Given the description of an element on the screen output the (x, y) to click on. 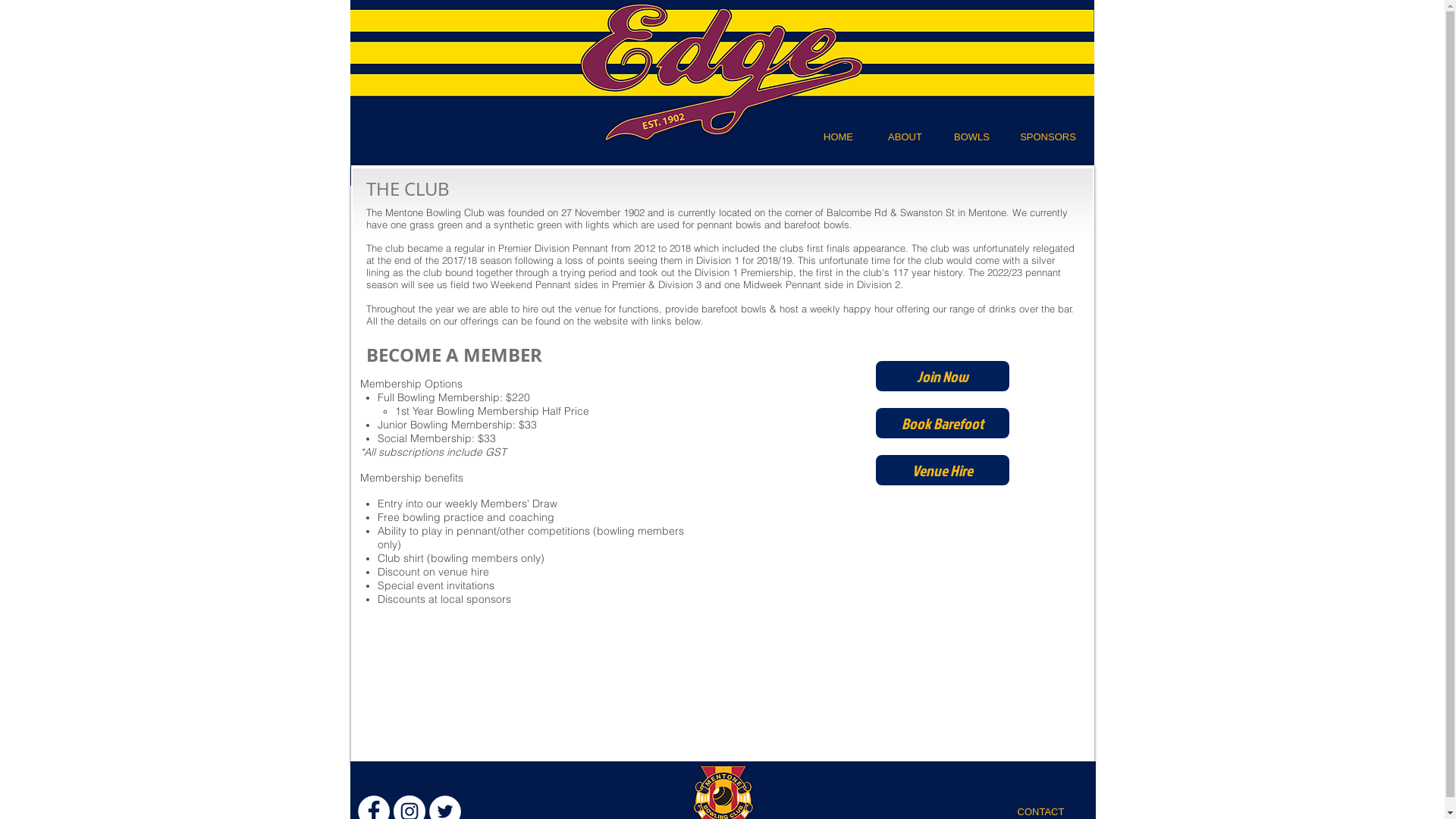
HOME Element type: text (837, 136)
SPONSORS Element type: text (1047, 136)
blue+gradient+with+logo.jpg Element type: hover (722, 92)
BOWLS Element type: text (971, 136)
Book Barefoot Element type: text (941, 422)
ABOUT Element type: text (904, 136)
Venue Hire Element type: text (941, 470)
Join Now Element type: text (941, 375)
